Given the description of an element on the screen output the (x, y) to click on. 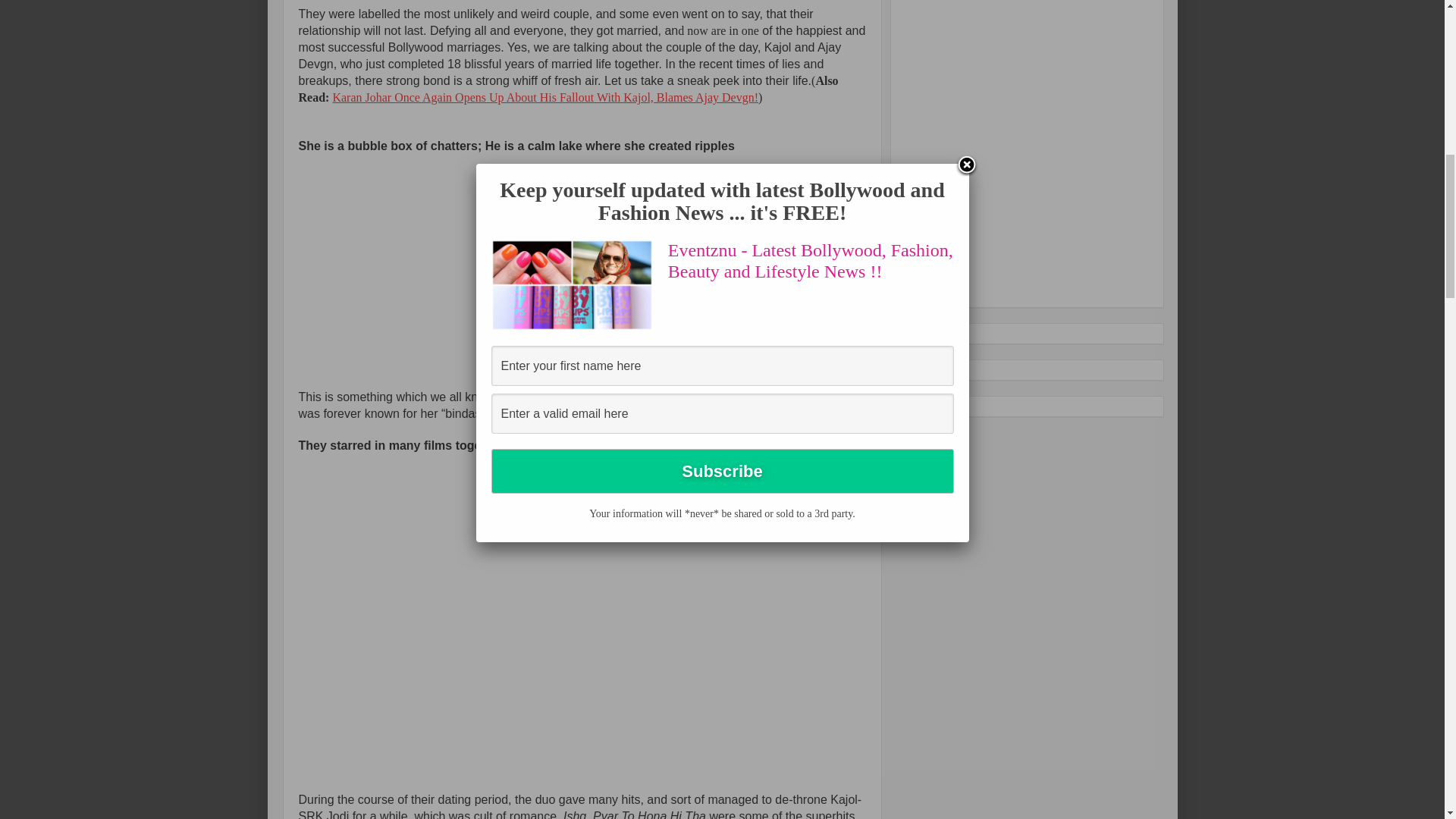
Advertisement (1014, 146)
